Given the description of an element on the screen output the (x, y) to click on. 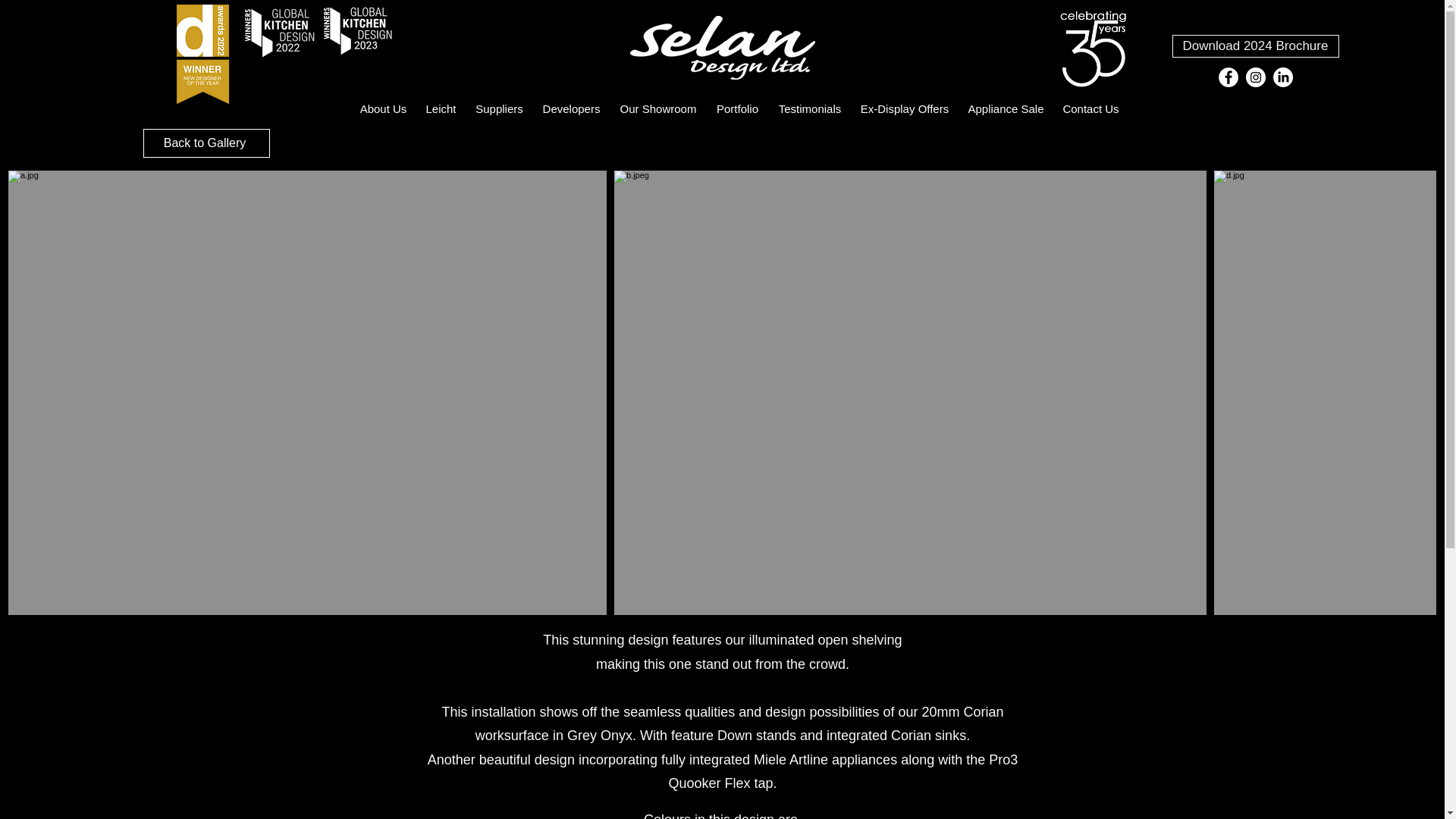
Portfolio (737, 108)
Suppliers (498, 108)
Leicht (439, 108)
Developers (571, 108)
Download 2024 Brochure (1255, 46)
Our Showroom (658, 108)
Ex-Display Offers (904, 108)
Contact Us (1091, 108)
About Us (382, 108)
Appliance Sale (1006, 108)
